Given the description of an element on the screen output the (x, y) to click on. 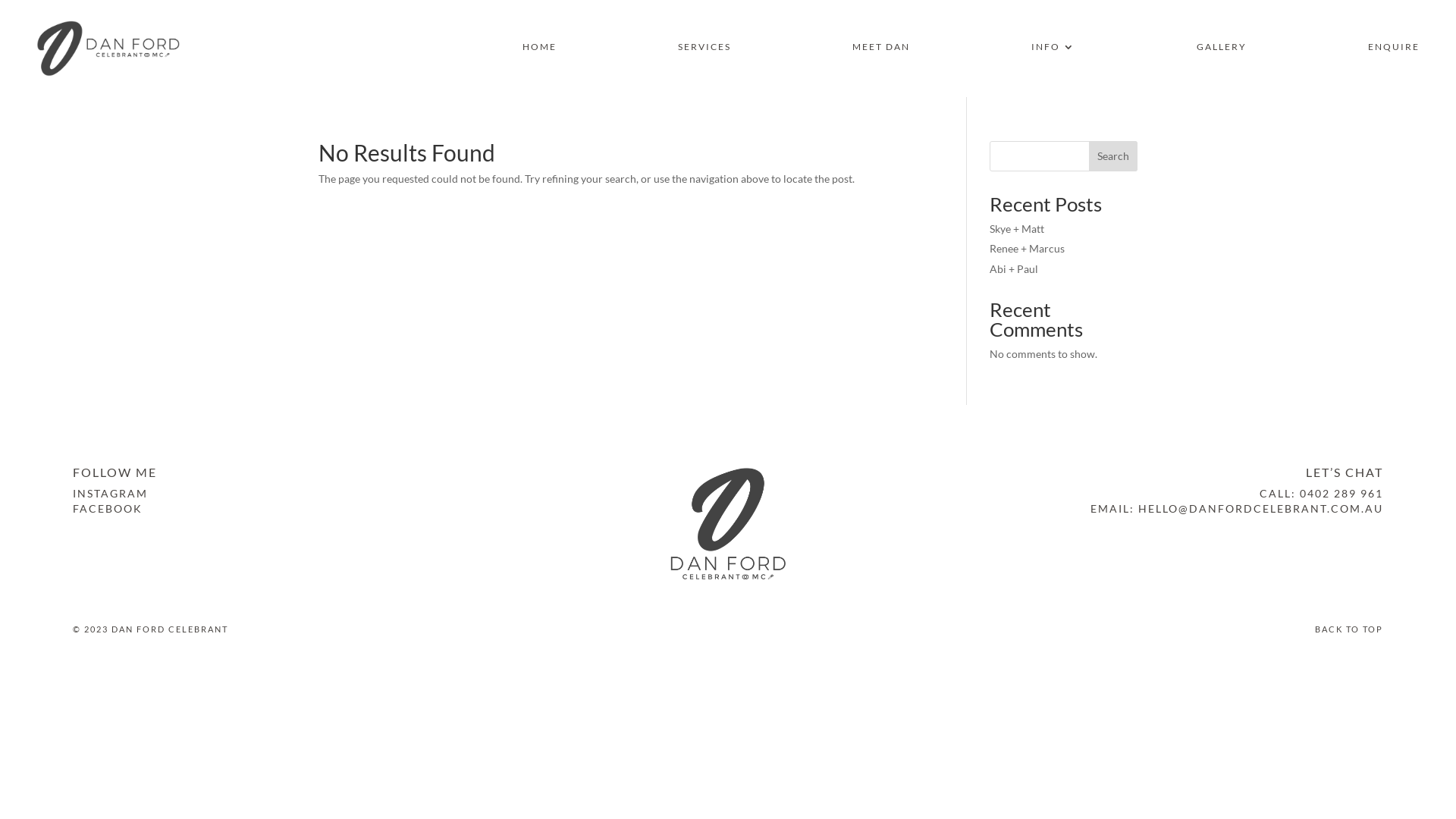
SERVICES Element type: text (704, 49)
Search Element type: text (1112, 156)
Dan Ford Primary Logo web Element type: hover (107, 48)
Skye + Matt Element type: text (1016, 228)
ENQUIRE Element type: text (1393, 49)
INSTAGRAM Element type: text (109, 492)
FACEBOOK Element type: text (107, 508)
INFO Element type: text (1053, 49)
Renee + Marcus Element type: text (1026, 247)
HOME Element type: text (539, 49)
GALLERY Element type: text (1221, 49)
Abi + Paul Element type: text (1013, 268)
Dan Ford Logo V Element type: hover (727, 523)
MEET DAN Element type: text (881, 49)
HELLO@DANFORDCELEBRANT.COM.AU Element type: text (1260, 508)
